Given the description of an element on the screen output the (x, y) to click on. 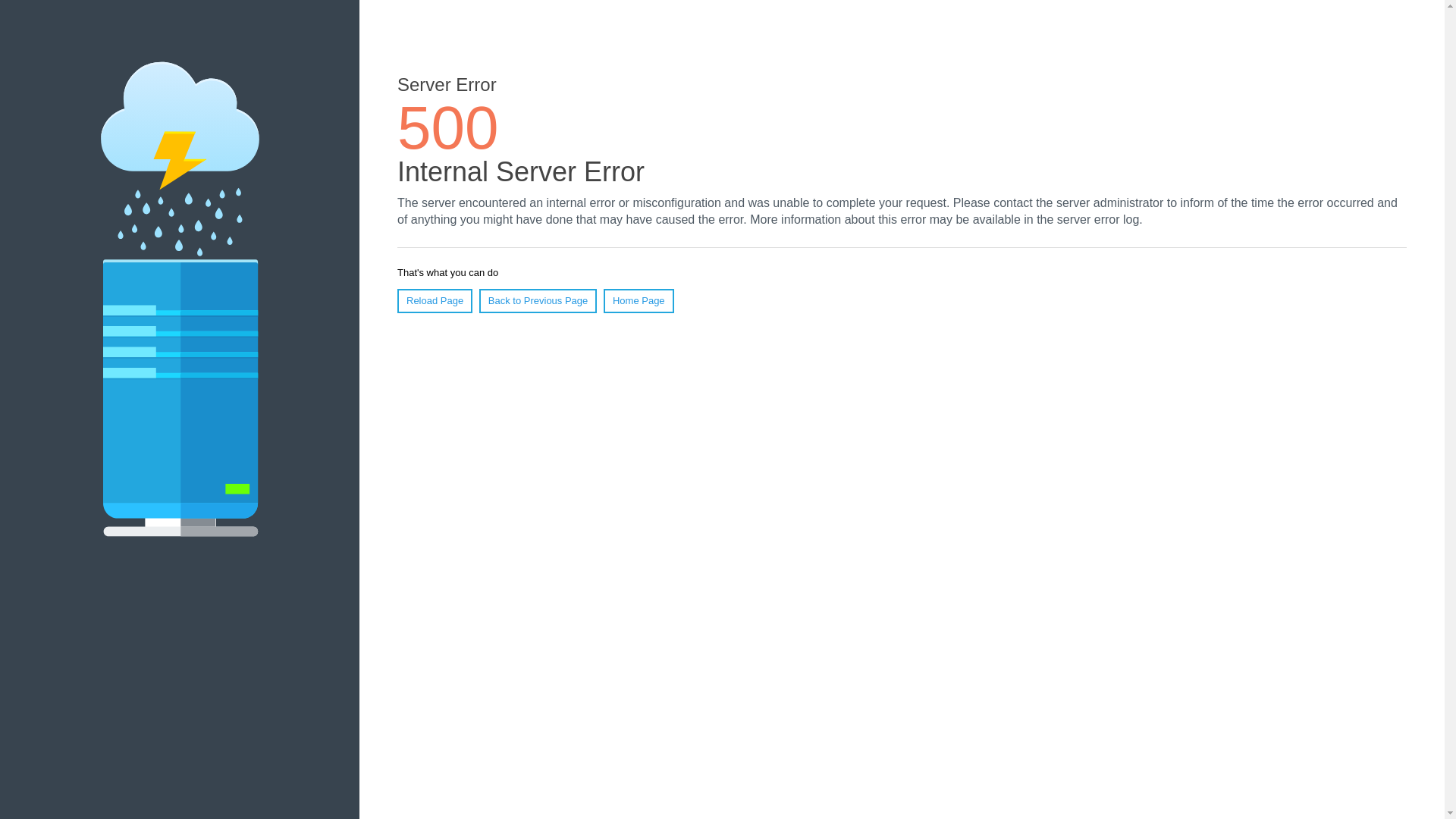
Home Page Element type: text (638, 300)
Reload Page Element type: text (434, 300)
Back to Previous Page Element type: text (538, 300)
